Given the description of an element on the screen output the (x, y) to click on. 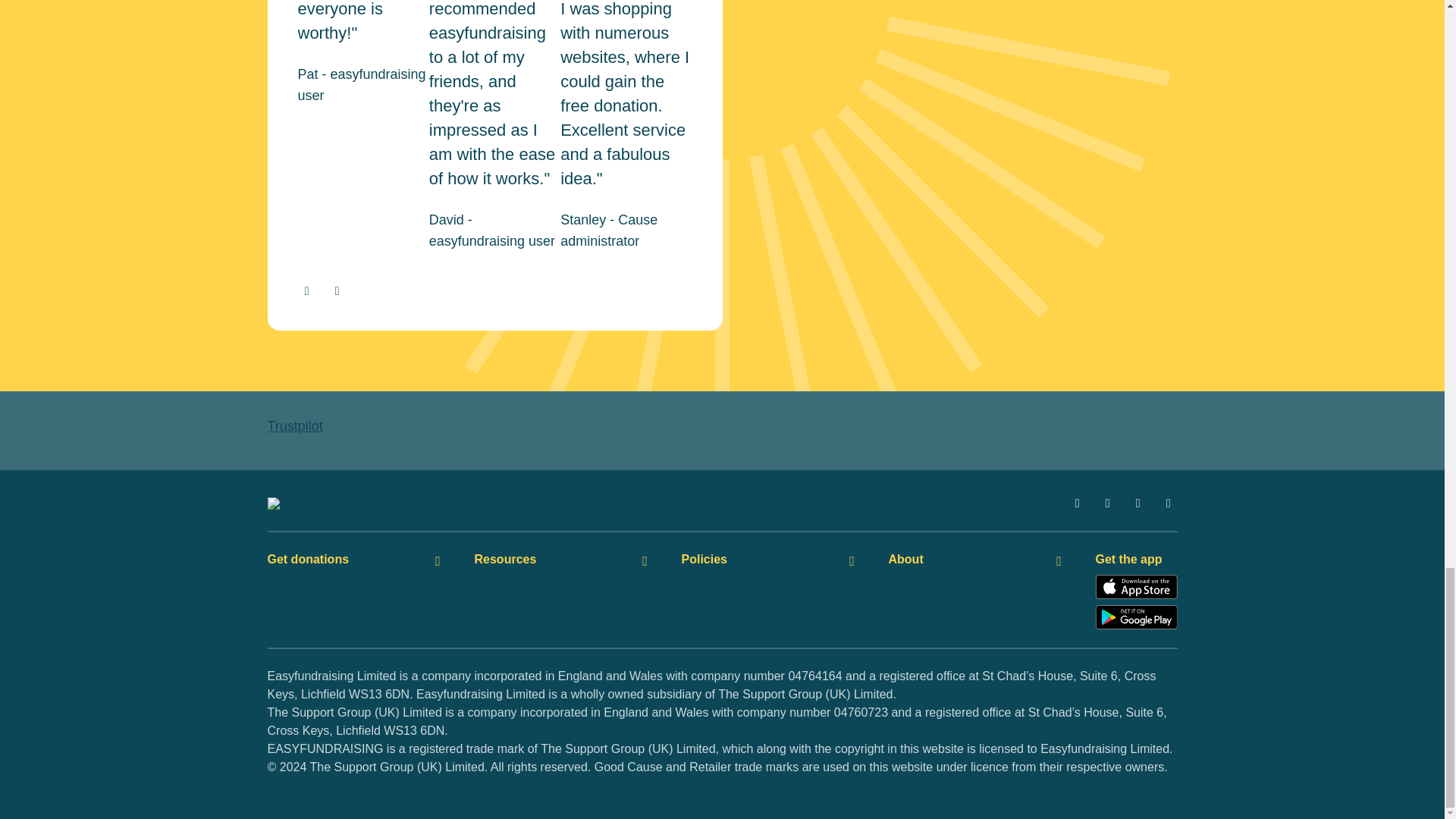
Trustpilot (293, 426)
About (976, 560)
Get donations (355, 560)
Policies (769, 560)
Resources (562, 560)
